Given the description of an element on the screen output the (x, y) to click on. 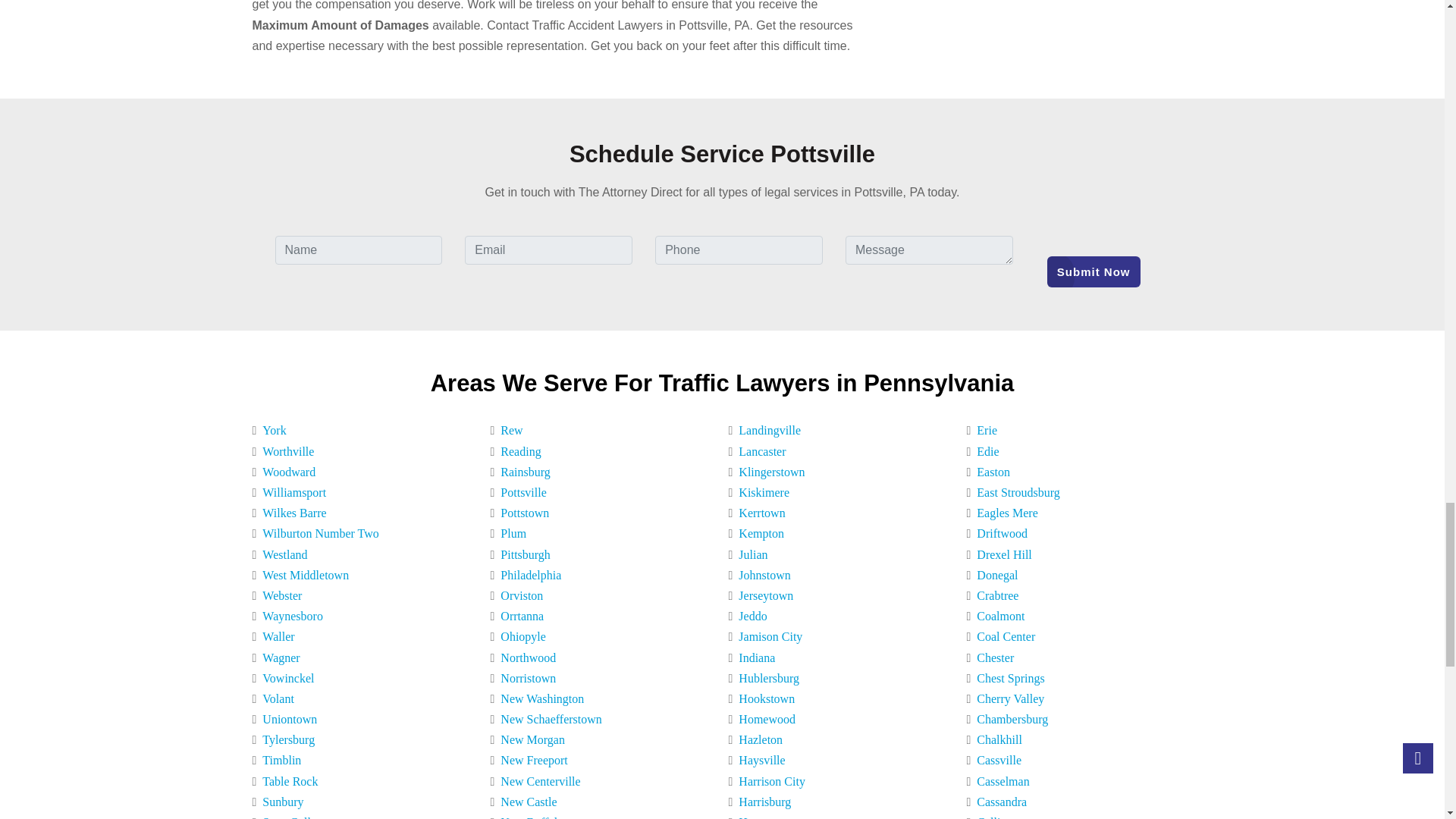
Submit Now (1093, 272)
York (270, 430)
Worthville (285, 451)
